Given the description of an element on the screen output the (x, y) to click on. 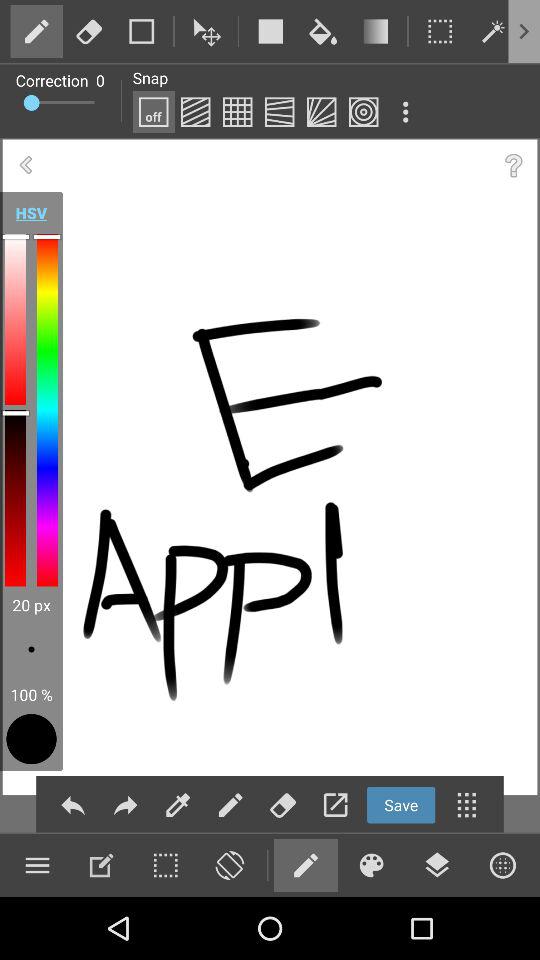
open help (513, 165)
